Given the description of an element on the screen output the (x, y) to click on. 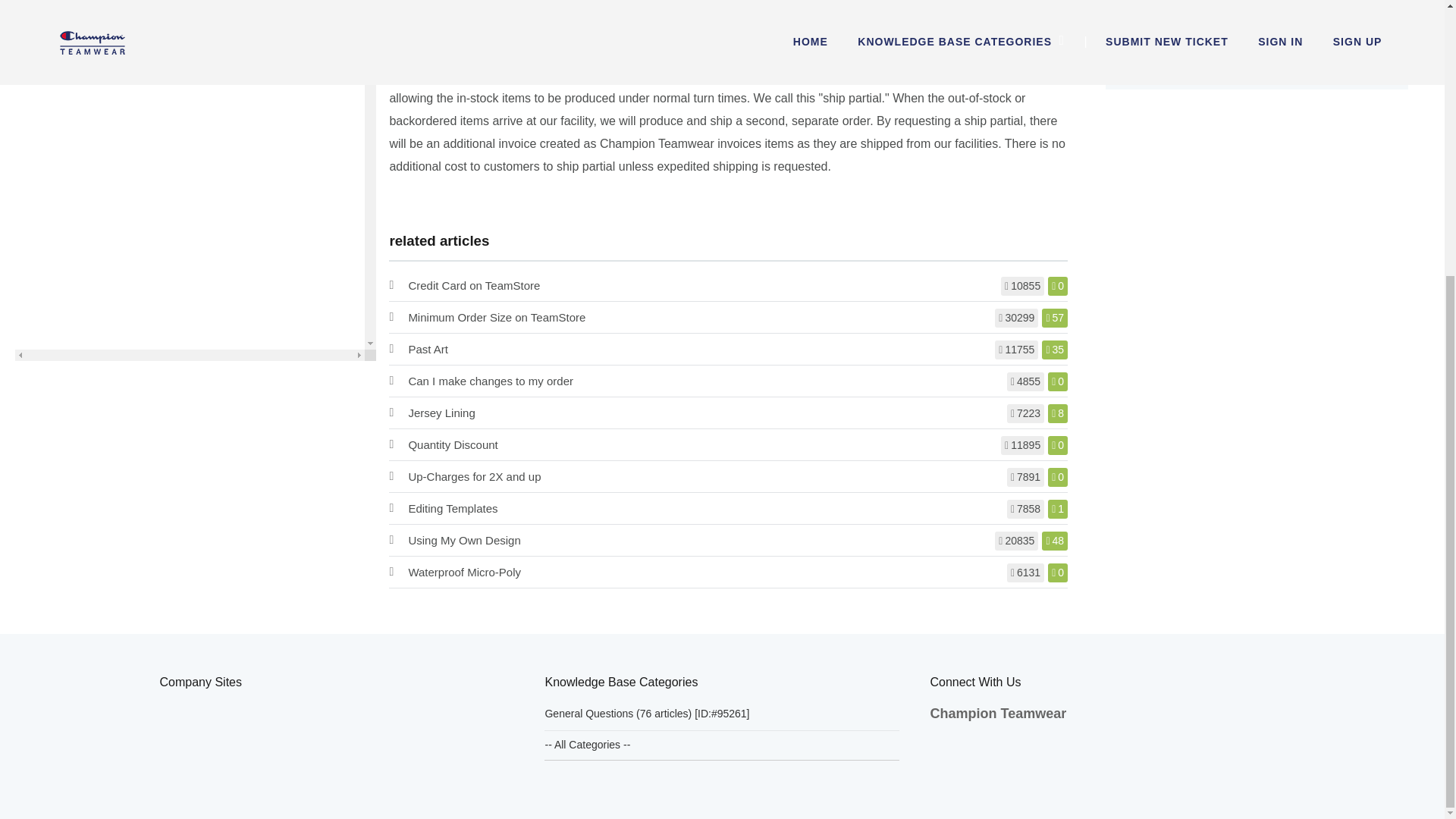
Quantity Discount (452, 444)
Jersey Lining (440, 412)
Up-Charges for 2X and up (473, 476)
Paying (440, 6)
Using My Own Design (463, 540)
Credit Card on TeamStore (473, 285)
Credit Approval (505, 6)
Subscribe (1150, 55)
Return (570, 6)
Past Art (427, 349)
Can I make changes to my order (490, 380)
Editing Templates (452, 508)
Waterproof Micro-Poly (464, 571)
Minimum Order Size on TeamStore (496, 317)
Shipping (619, 6)
